Given the description of an element on the screen output the (x, y) to click on. 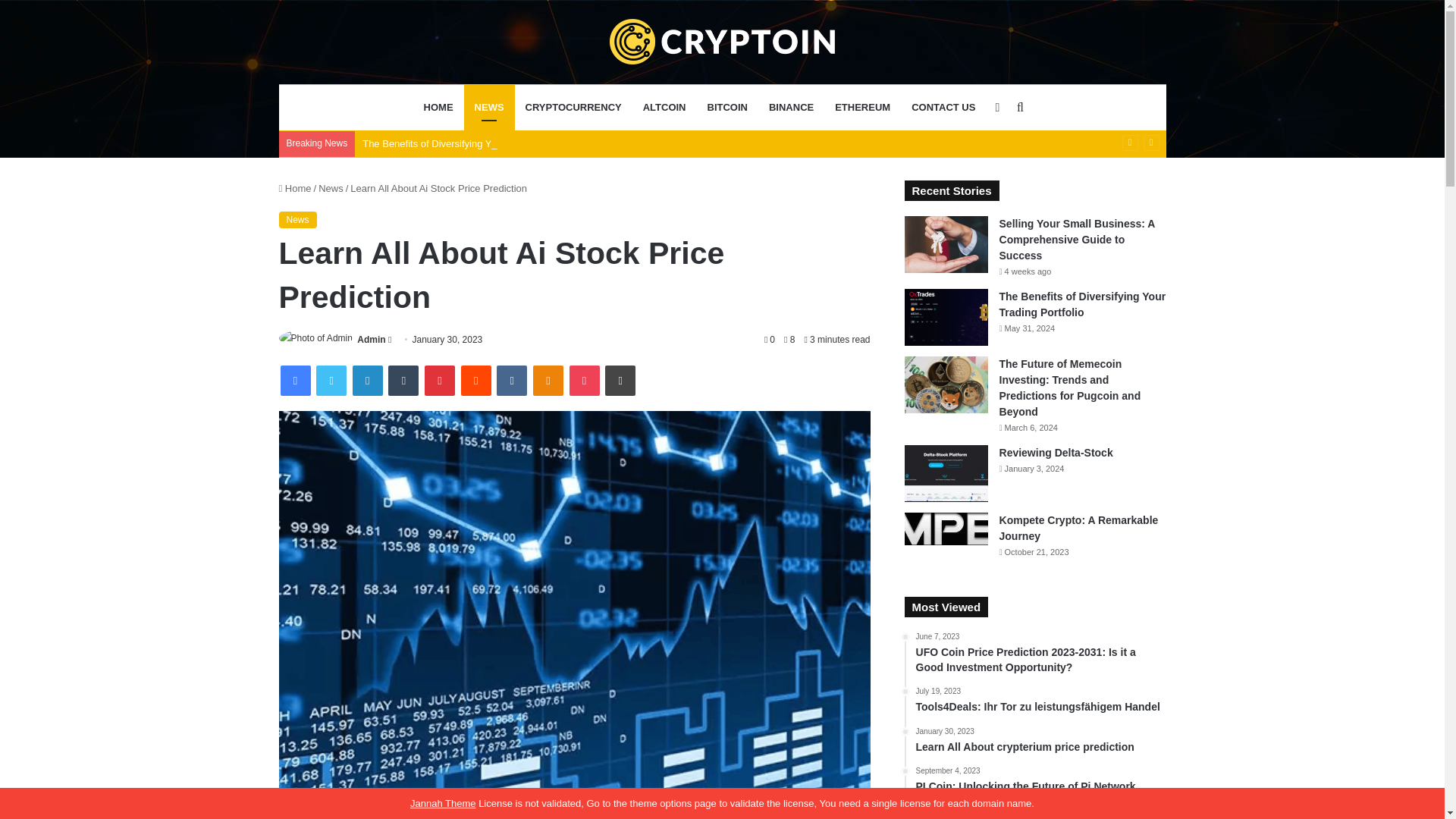
LinkedIn (367, 380)
News (330, 188)
Pinterest (439, 380)
BITCOIN (727, 107)
Reddit (476, 380)
Admin (370, 339)
VKontakte (511, 380)
Tumblr (403, 380)
Admin (370, 339)
Odnoklassniki (547, 380)
Print (619, 380)
The Benefits of Diversifying Your Trading Portfolio (470, 143)
Facebook (296, 380)
HOME (438, 107)
Pocket (583, 380)
